Given the description of an element on the screen output the (x, y) to click on. 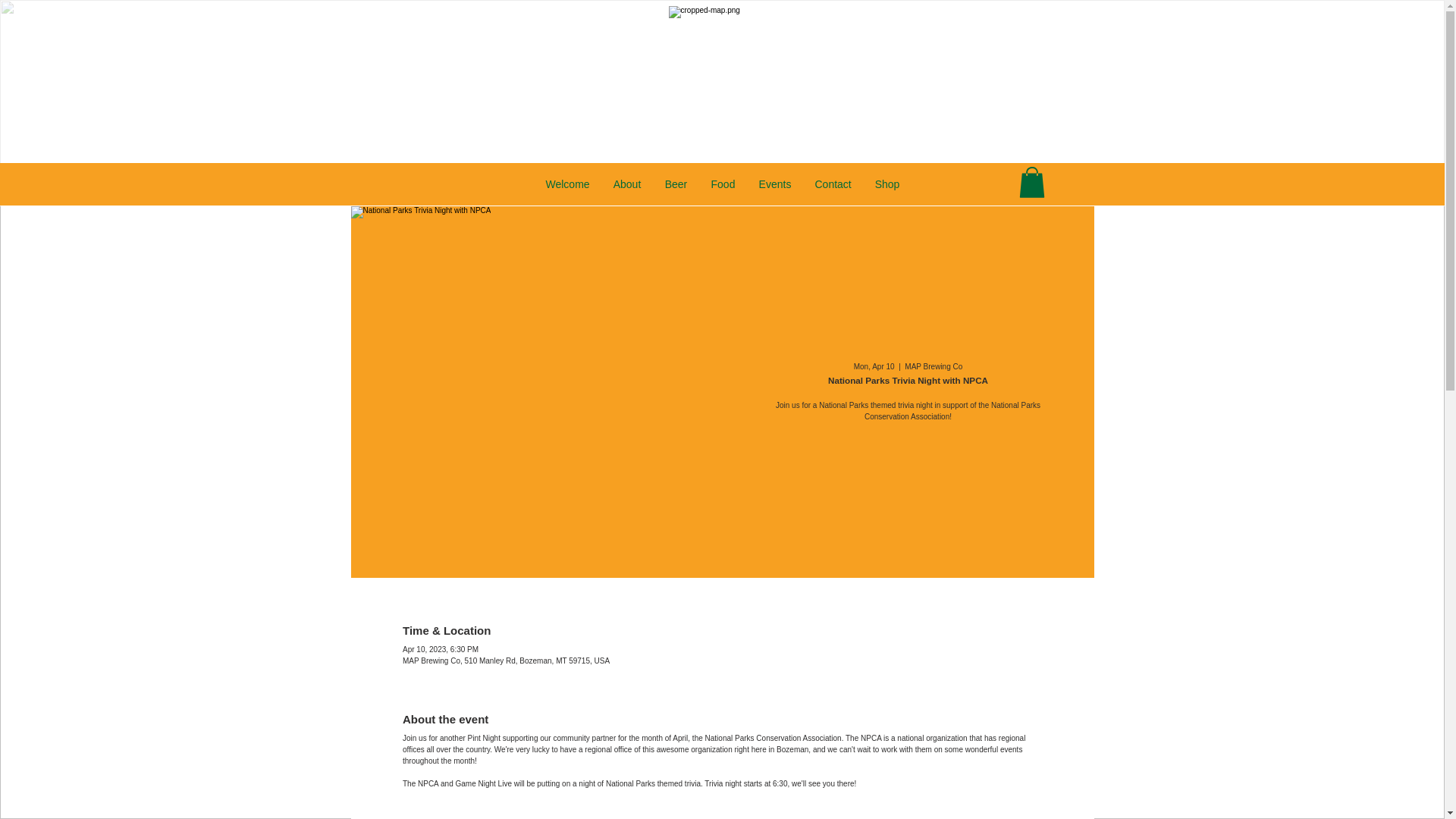
Beer (675, 183)
Welcome (567, 183)
Shop (887, 183)
Events (773, 183)
Food (722, 183)
Contact (831, 183)
About (625, 183)
